Given the description of an element on the screen output the (x, y) to click on. 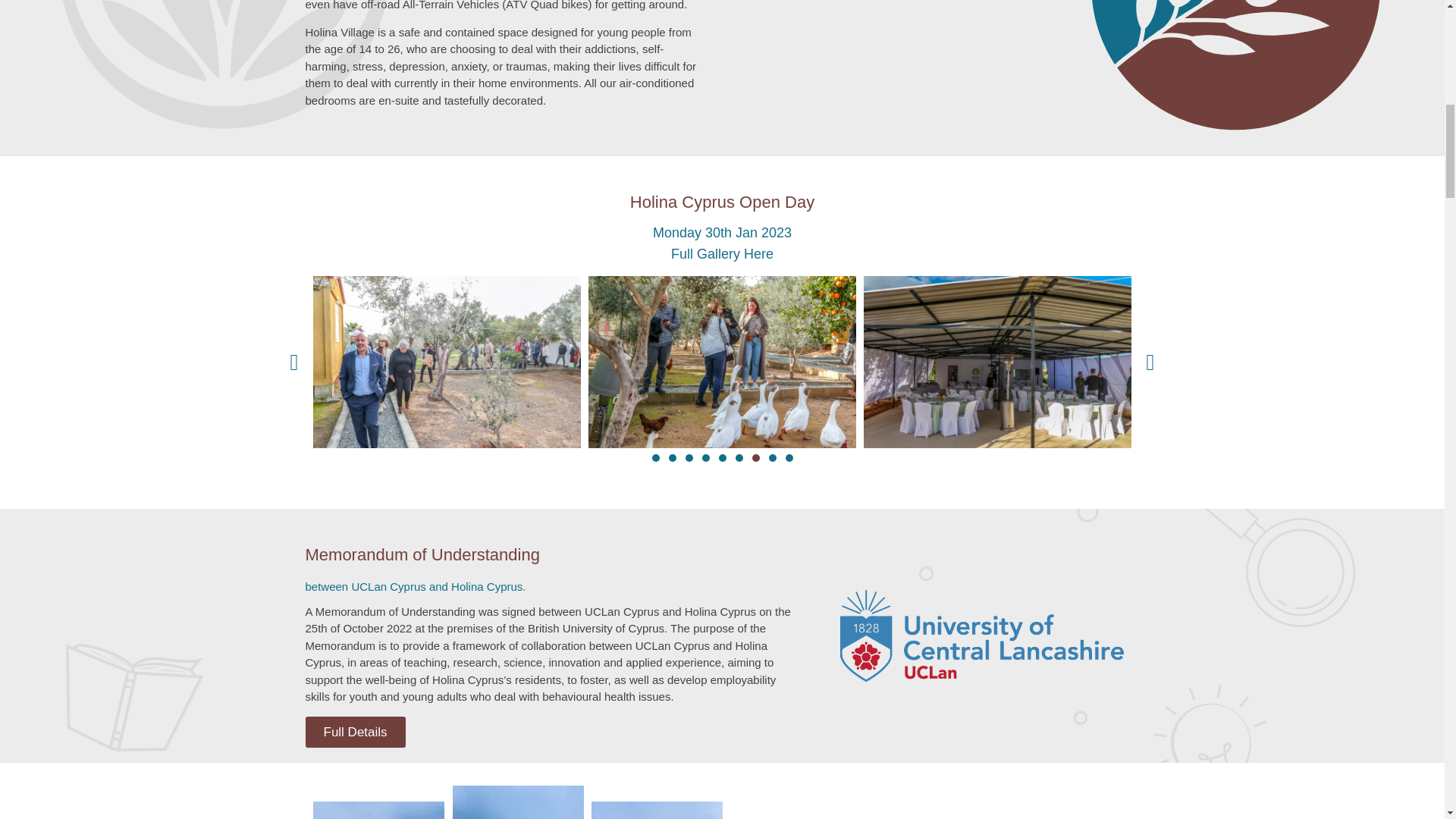
Full Gallery Here (722, 253)
Full Details (354, 731)
